Given the description of an element on the screen output the (x, y) to click on. 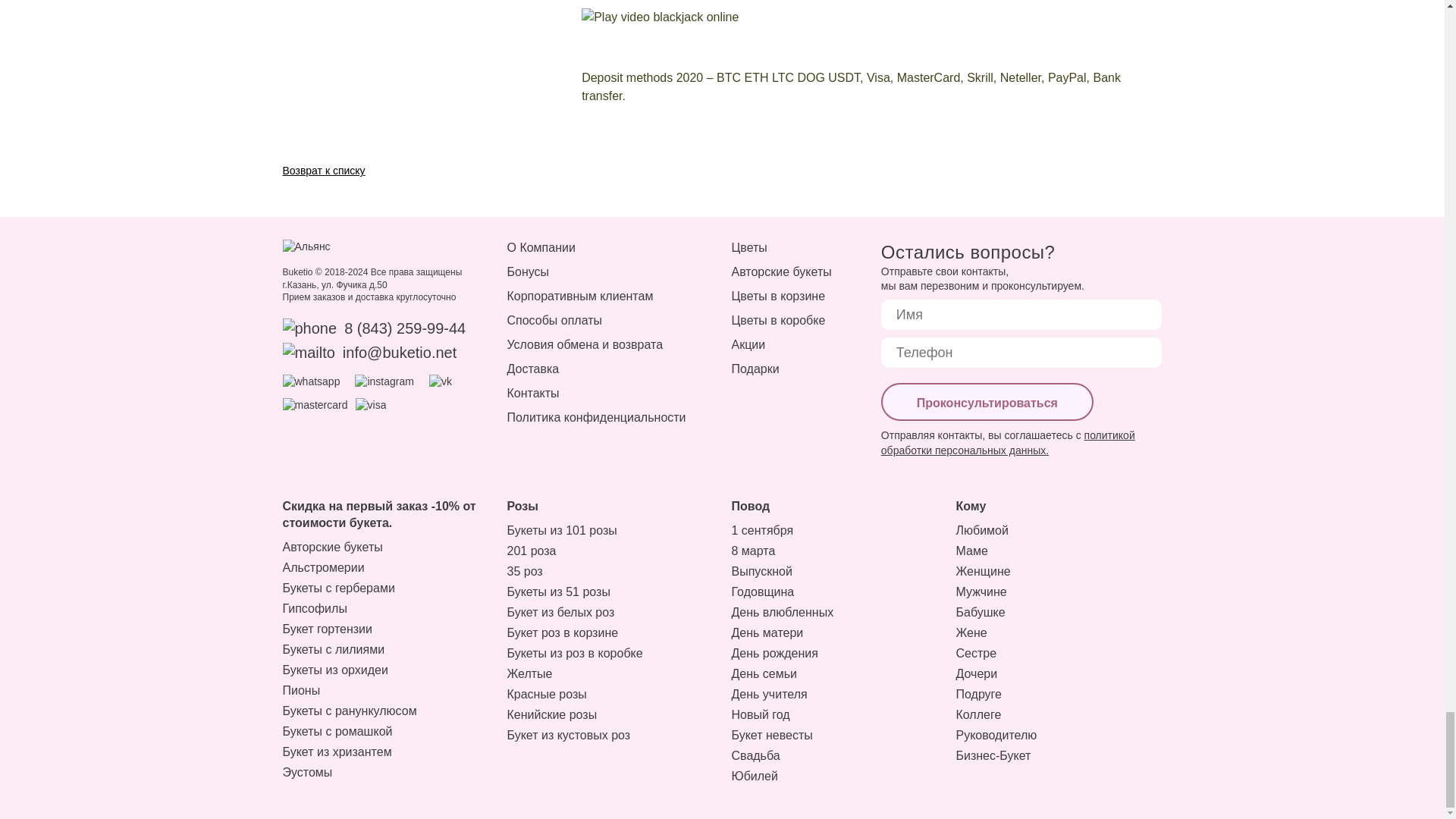
Play video blackjack online (846, 17)
